Given the description of an element on the screen output the (x, y) to click on. 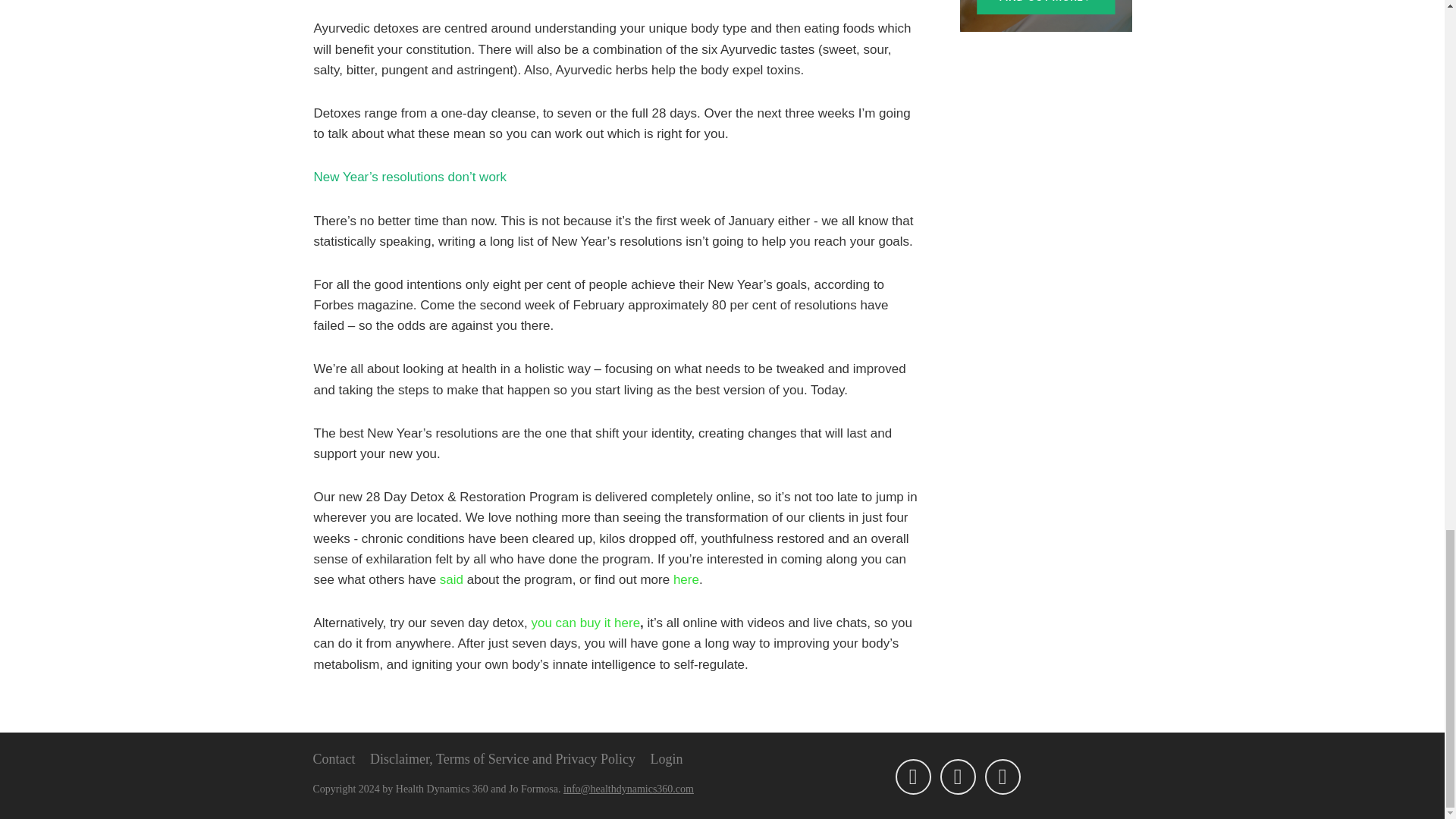
you can buy it here (585, 622)
Disclaimer, Terms of Service and Privacy Policy (501, 758)
Login (666, 758)
here (685, 579)
Contact (334, 758)
said (451, 579)
